Given the description of an element on the screen output the (x, y) to click on. 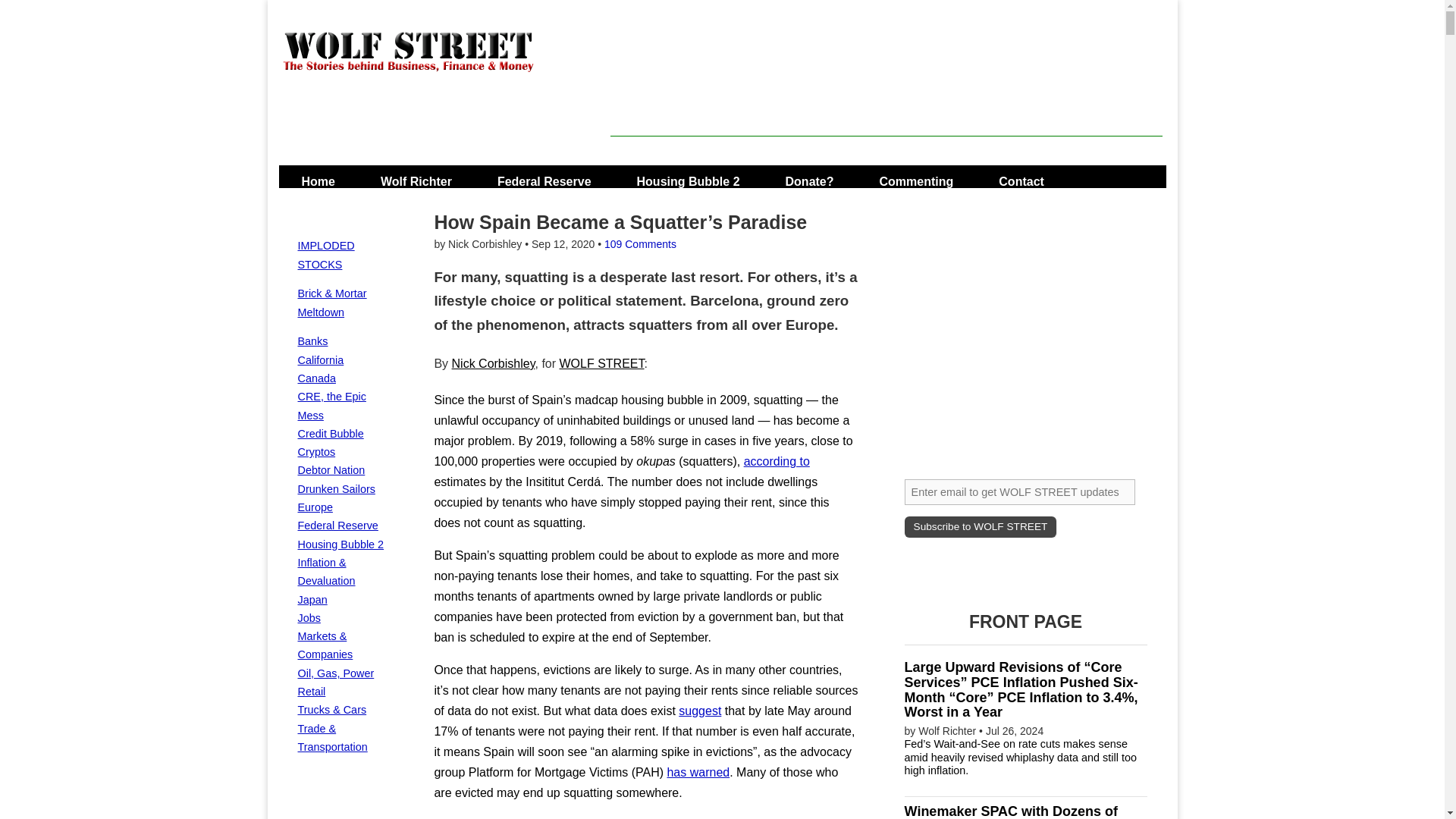
Housing Bubble 2 (340, 544)
Canada (315, 378)
View all posts filed under Debtor Nation (331, 469)
Donate? (809, 175)
Wolf Richter (416, 175)
has warned (697, 771)
Japan (311, 599)
Cryptos (315, 451)
Skip to content (322, 175)
Wolf Street (408, 61)
View all posts filed under Federal Reserve (337, 525)
CRE, the Epic Mess (331, 405)
View all posts filed under Housing (340, 544)
Subscribe to WOLF STREET (980, 526)
View all posts filed under Cryptos (315, 451)
